Given the description of an element on the screen output the (x, y) to click on. 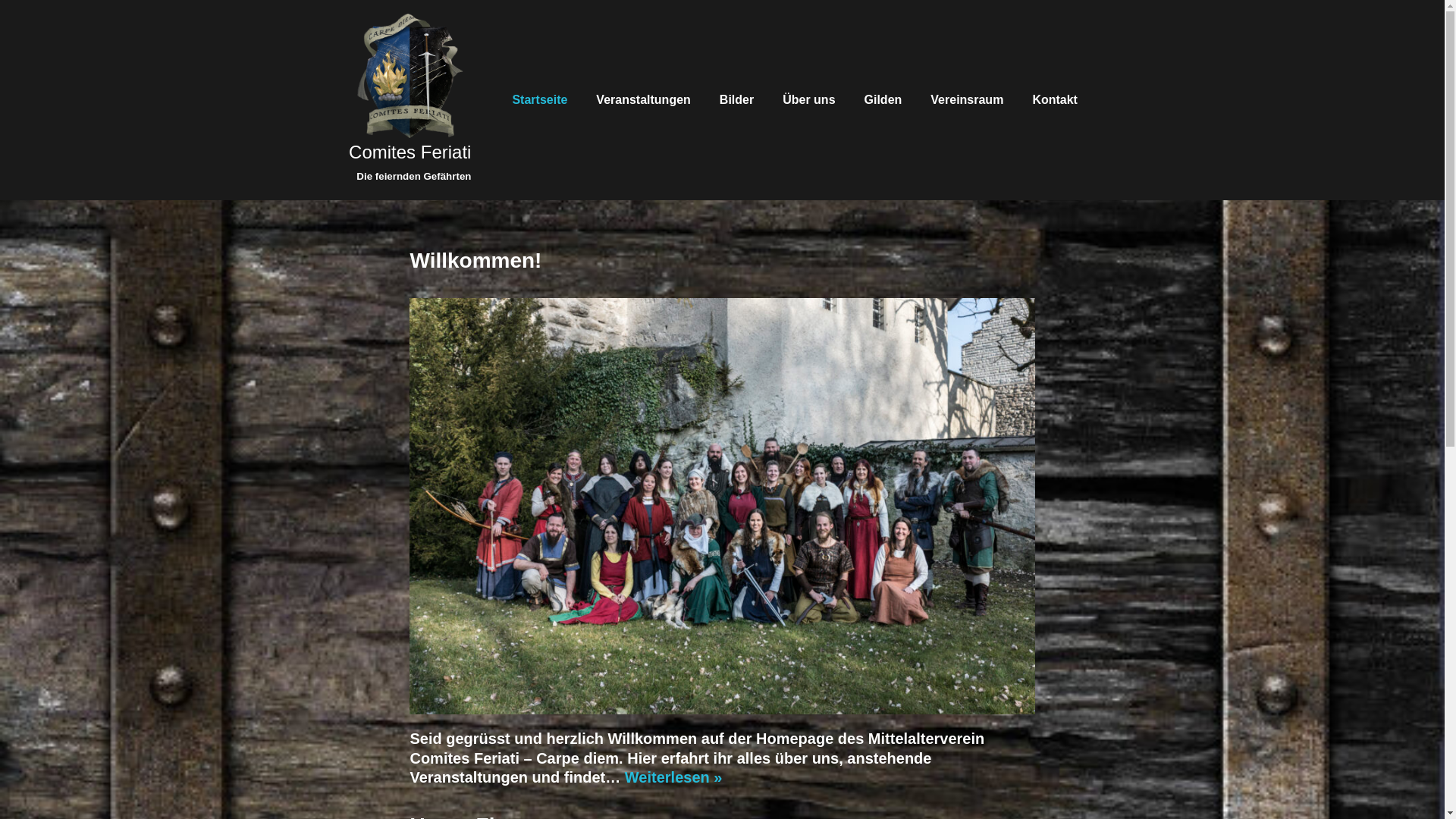
Gilden Element type: text (883, 99)
Willkommen! Element type: text (475, 260)
Willkommen! Element type: hover (721, 506)
Startseite Element type: text (539, 99)
Bilder Element type: text (736, 99)
Vereinsraum Element type: text (966, 99)
Zum Inhalt springen Element type: text (11, 31)
Kontakt Element type: text (1054, 99)
Veranstaltungen Element type: text (643, 99)
